Given the description of an element on the screen output the (x, y) to click on. 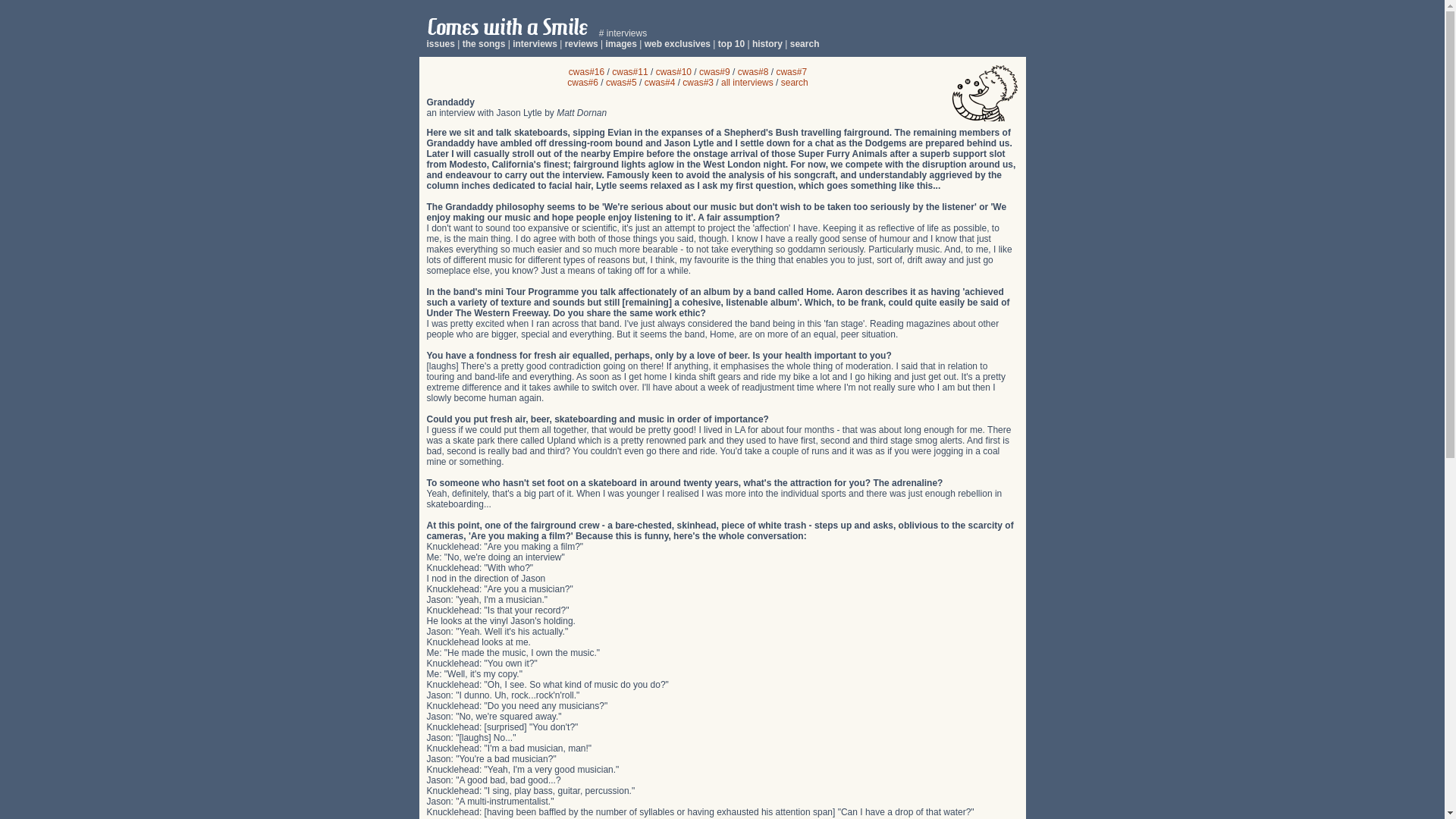
web exclusives (677, 43)
images (620, 43)
search (804, 43)
search (794, 81)
history (767, 43)
all interviews (746, 81)
top 10 (730, 43)
reviews (581, 43)
interviews (534, 43)
issues (440, 43)
the songs (484, 43)
